Given the description of an element on the screen output the (x, y) to click on. 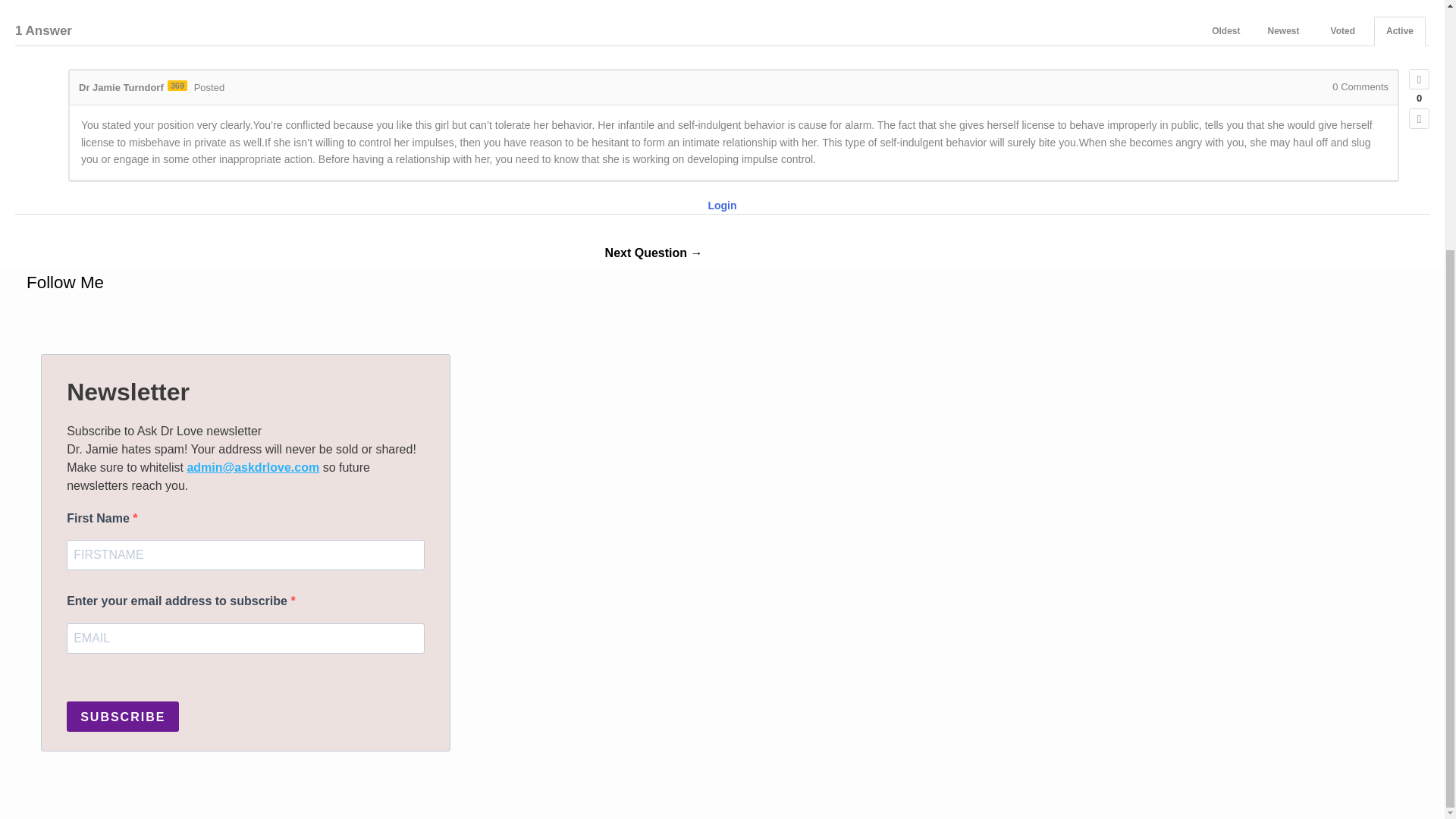
Up vote this answer (1419, 78)
Reputation (177, 85)
Relationship help! (653, 254)
Active (1399, 30)
Down vote this answer (1419, 118)
